Given the description of an element on the screen output the (x, y) to click on. 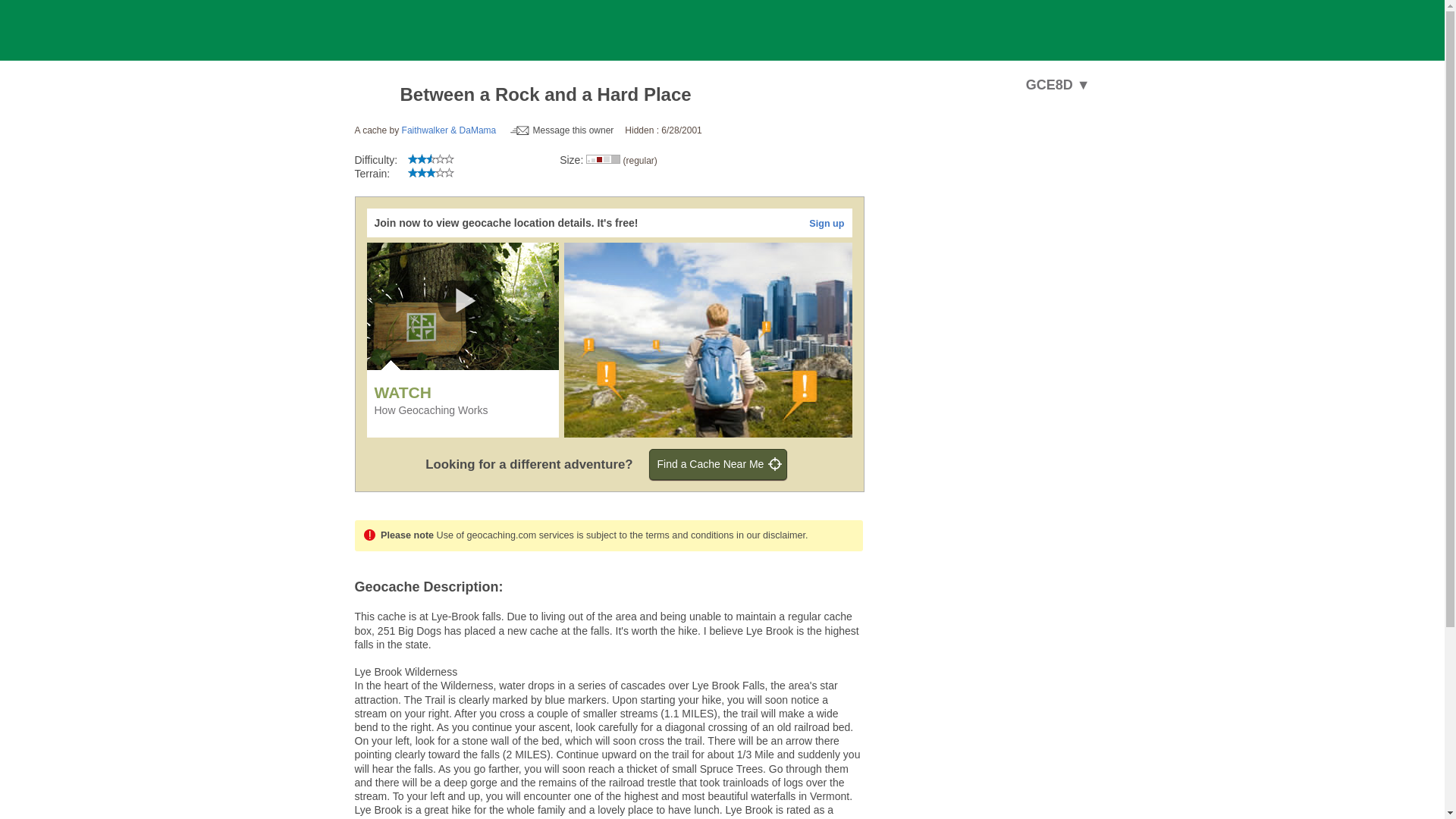
Find a Cache Near Me (718, 463)
Read our disclaimer (770, 534)
Sign up (826, 223)
Expand Play Video (466, 300)
Size: regular (603, 158)
in our disclaimer (770, 534)
Find a Cache Near Me (718, 463)
Sign up (826, 223)
Find a Cache Near Me (718, 463)
Message this owner (562, 130)
